Given the description of an element on the screen output the (x, y) to click on. 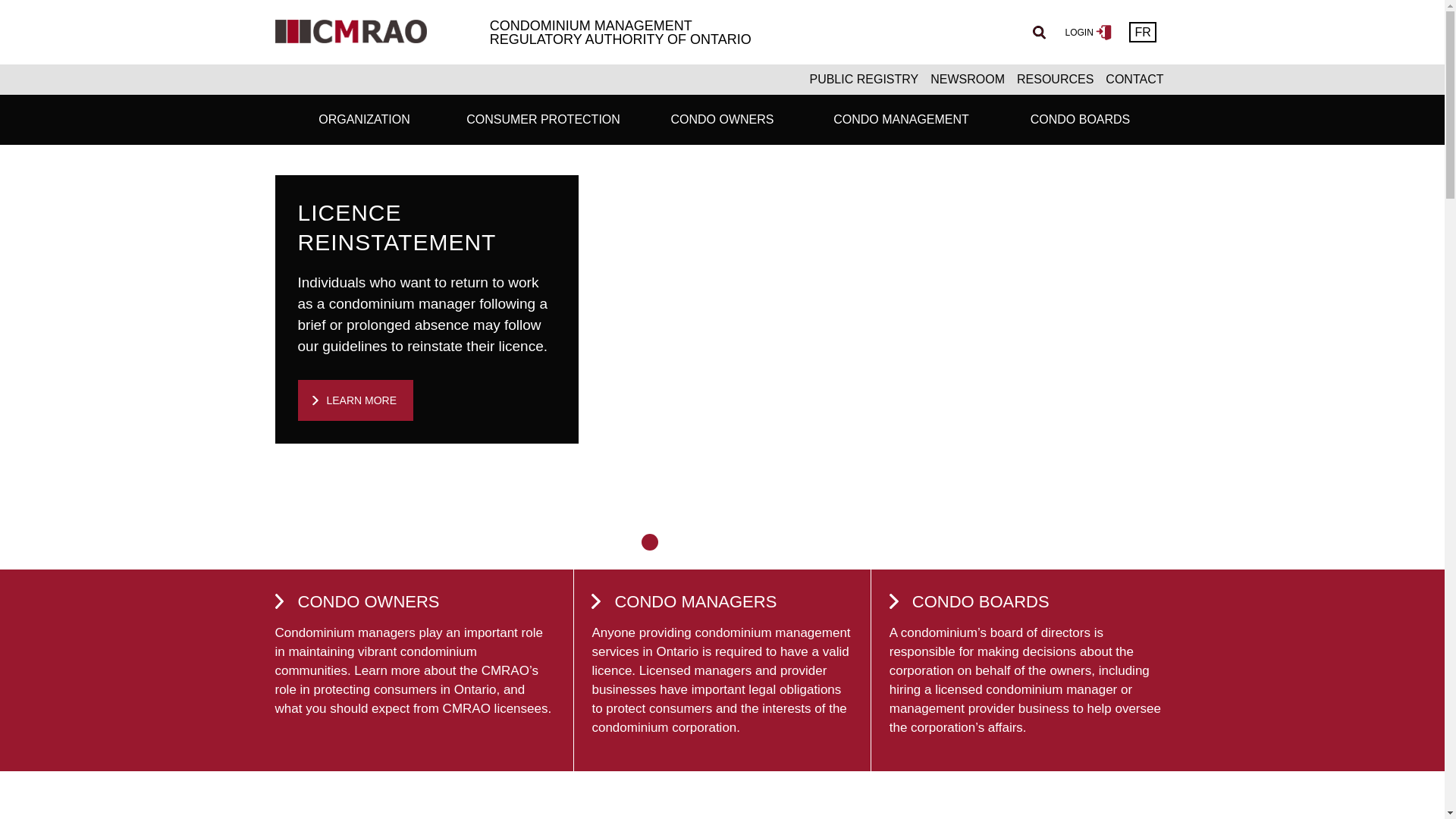
ORGANIZATION (364, 119)
CONDO OWNERS (720, 119)
Skip to content (40, 6)
OPEN SEARCH INPUT (1038, 31)
NEWSROOM (967, 79)
PUBLIC REGISTRY (863, 79)
login (1091, 32)
RESOURCES (1054, 79)
FR (1142, 32)
CONSUMER PROTECTION (543, 119)
CONTACT (1134, 79)
CONDO MANAGEMENT (901, 119)
